Given the description of an element on the screen output the (x, y) to click on. 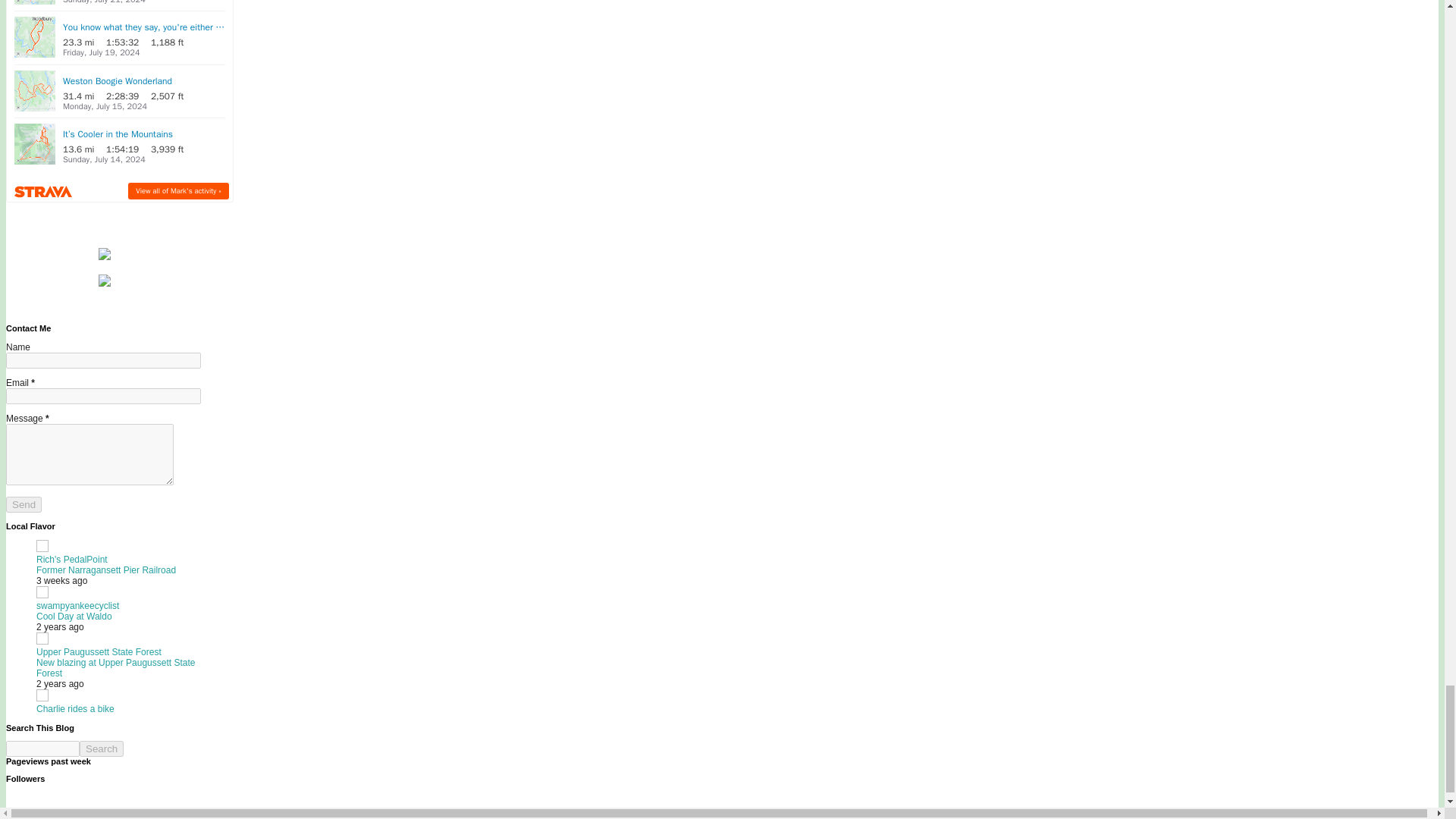
Search (101, 748)
search (42, 748)
search (101, 748)
Send (23, 504)
Search (101, 748)
